Given the description of an element on the screen output the (x, y) to click on. 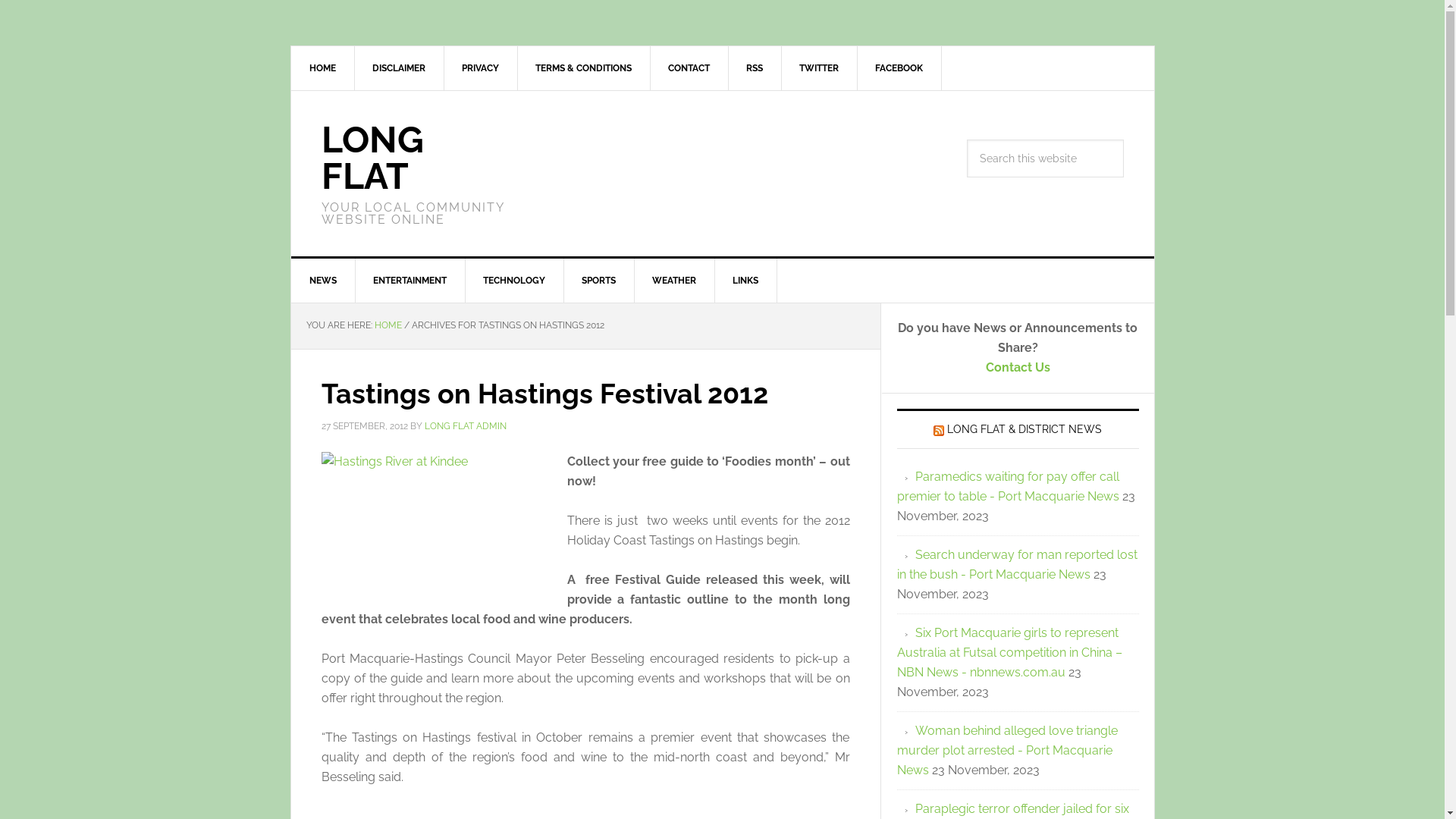
TWITTER Element type: text (819, 68)
SPORTS Element type: text (597, 280)
Hastings River at Kindee Element type: hover (435, 519)
FACEBOOK Element type: text (898, 68)
PRIVACY Element type: text (479, 68)
LONG FLAT ADMIN Element type: text (465, 425)
Tastings on Hastings Festival 2012 Element type: text (544, 393)
Contact Us Element type: text (1017, 367)
TERMS & CONDITIONS Element type: text (583, 68)
LONG FLAT & DISTRICT NEWS Element type: text (1024, 429)
Search Element type: text (1122, 138)
ENTERTAINMENT Element type: text (409, 280)
HOME Element type: text (322, 68)
DISCLAIMER Element type: text (398, 68)
NEWS Element type: text (323, 280)
TECHNOLOGY Element type: text (513, 280)
HOME Element type: text (387, 325)
CONTACT Element type: text (688, 68)
LONG FLAT Element type: text (372, 157)
LINKS Element type: text (745, 280)
RSS Element type: text (754, 68)
WEATHER Element type: text (674, 280)
